Given the description of an element on the screen output the (x, y) to click on. 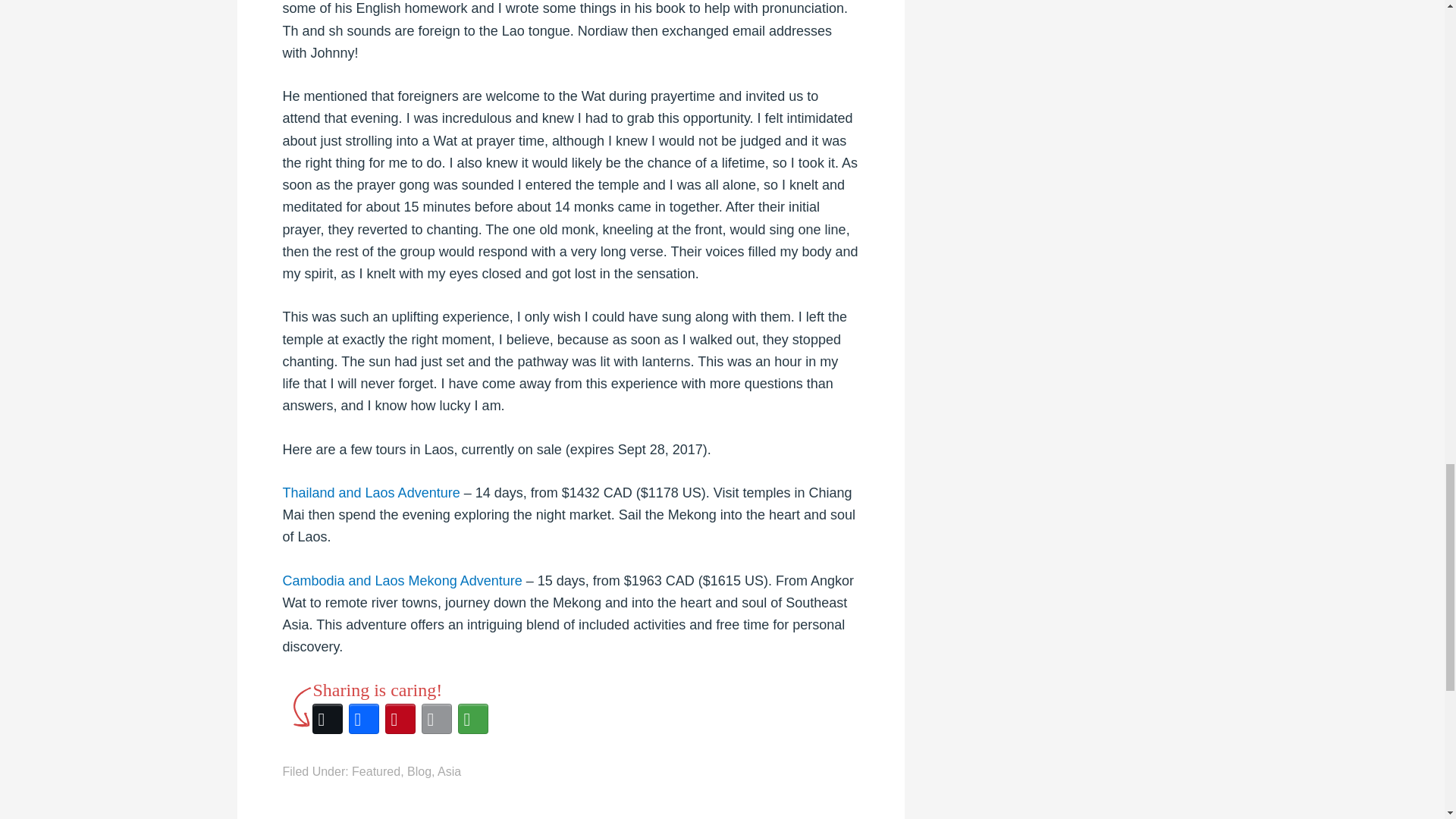
Thailand and Laos Adventure (371, 492)
Facebook (363, 719)
Cambodia and Laos Mekong Adventure (401, 580)
Blog (418, 771)
More Options (473, 719)
Featured (376, 771)
Pinterest (400, 719)
Email This (436, 719)
Asia (449, 771)
